Given the description of an element on the screen output the (x, y) to click on. 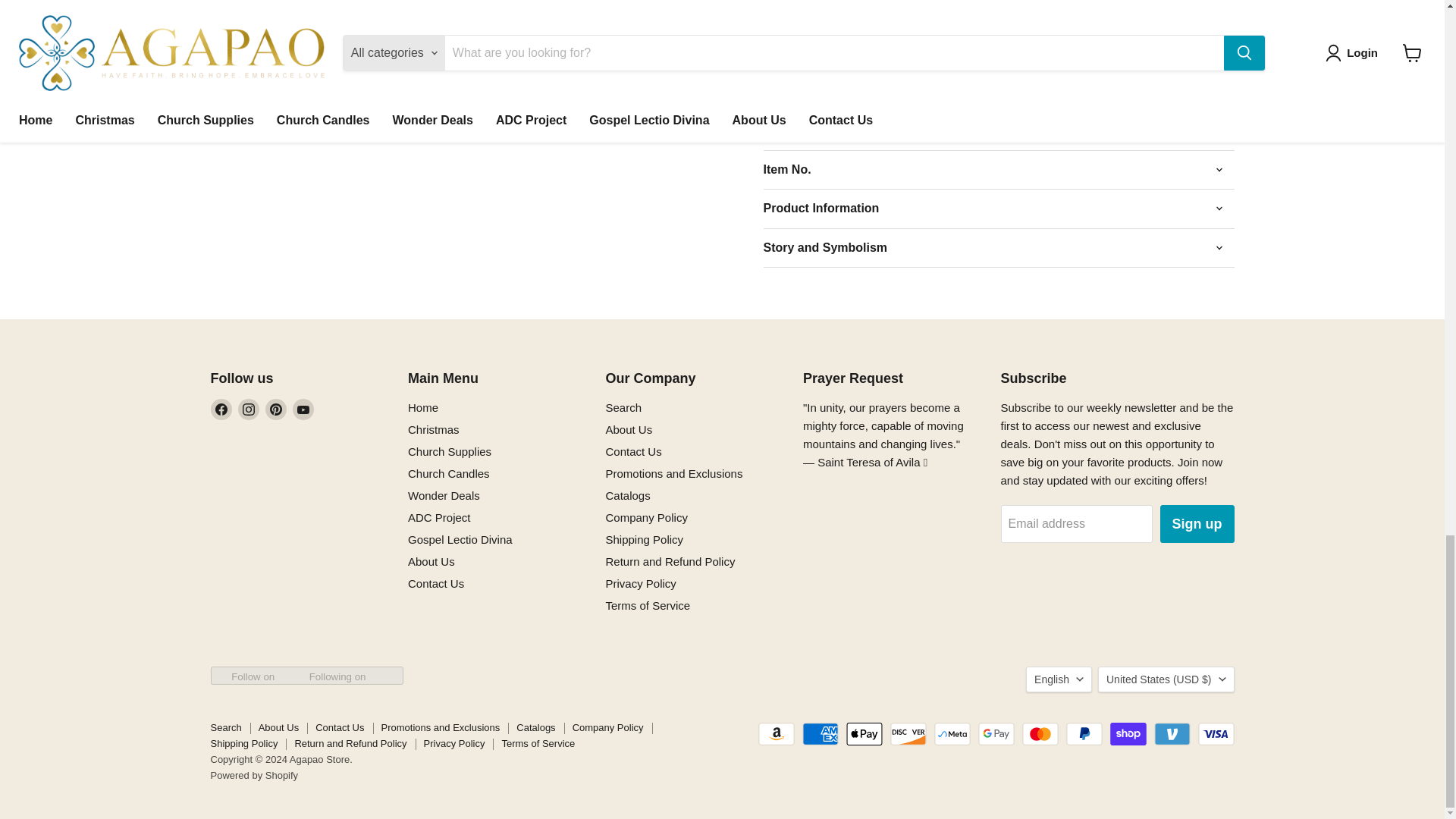
Pinterest (275, 409)
YouTube (303, 409)
1 (839, 16)
Facebook (221, 409)
Instagram (248, 409)
